Given the description of an element on the screen output the (x, y) to click on. 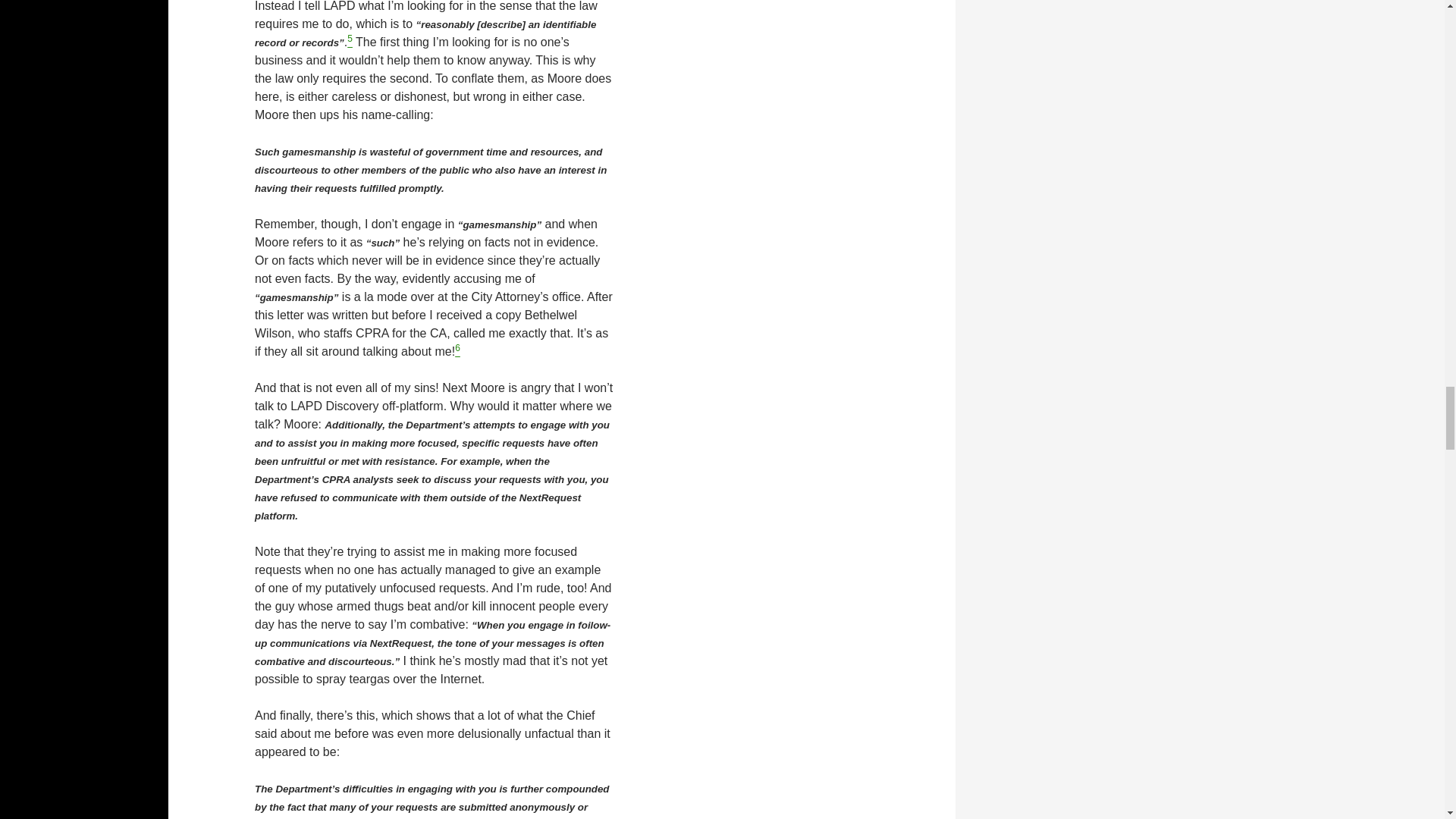
6 (457, 350)
5 (349, 42)
